Given the description of an element on the screen output the (x, y) to click on. 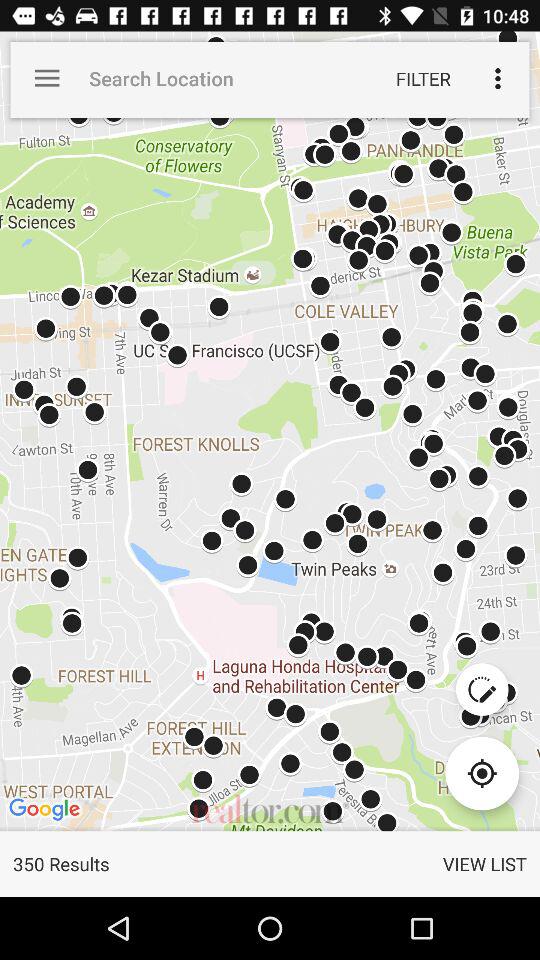
turn off the icon to the right of the search location item (423, 78)
